Given the description of an element on the screen output the (x, y) to click on. 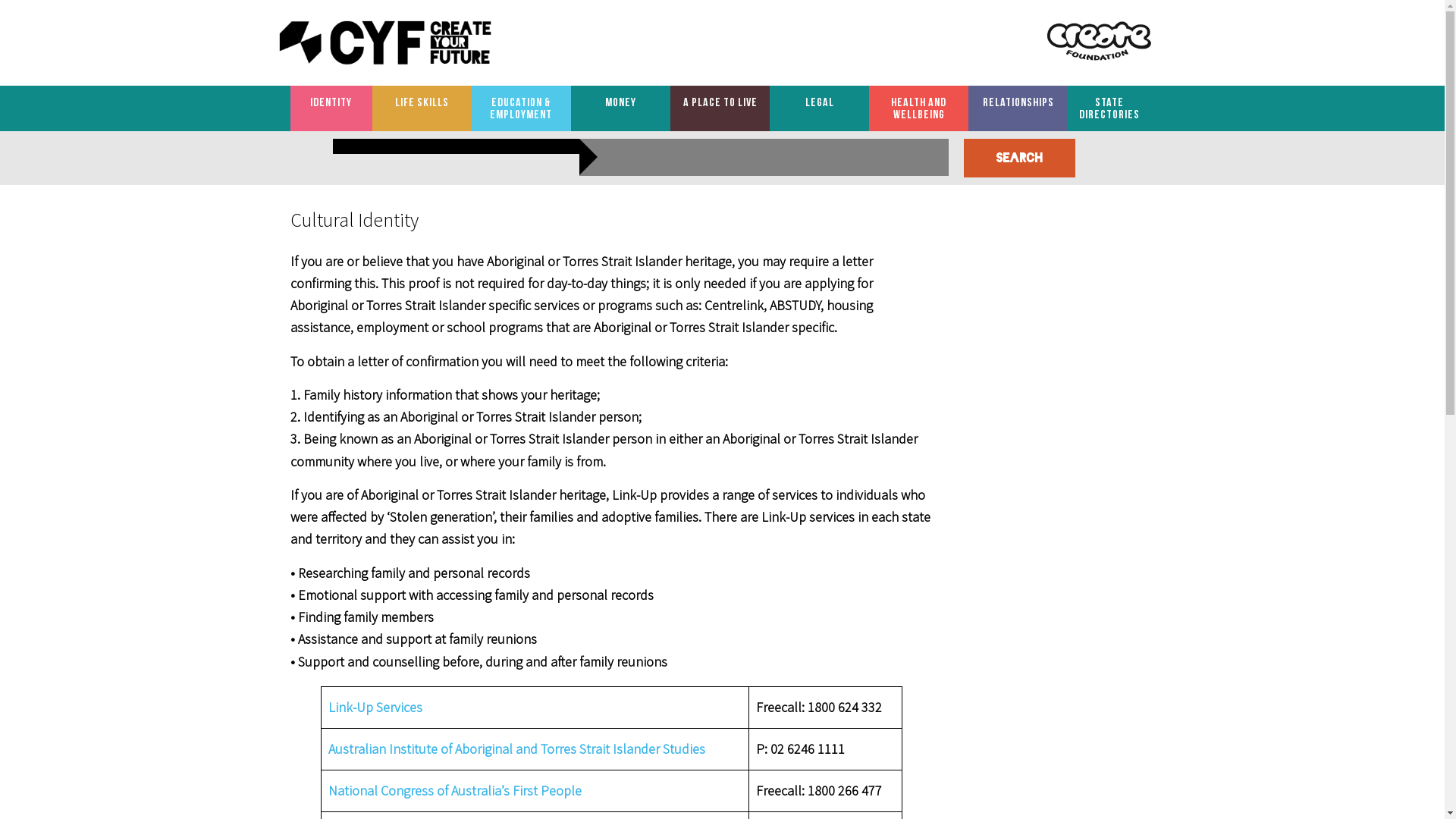
EDUCATION & EMPLOYMENT Element type: text (521, 108)
MONEY Element type: text (620, 102)
Link-Up Services Element type: text (374, 706)
LEGAL Element type: text (819, 102)
HEALTH AND WELLBEING Element type: text (918, 108)
Search Element type: text (1019, 157)
RELATIONSHIPS Element type: text (1017, 102)
STATE DIRECTORIES Element type: text (1108, 108)
A PLACE TO LIVE Element type: text (719, 102)
LIFE SKILLS Element type: text (421, 102)
IDENTITY Element type: text (330, 102)
